Given the description of an element on the screen output the (x, y) to click on. 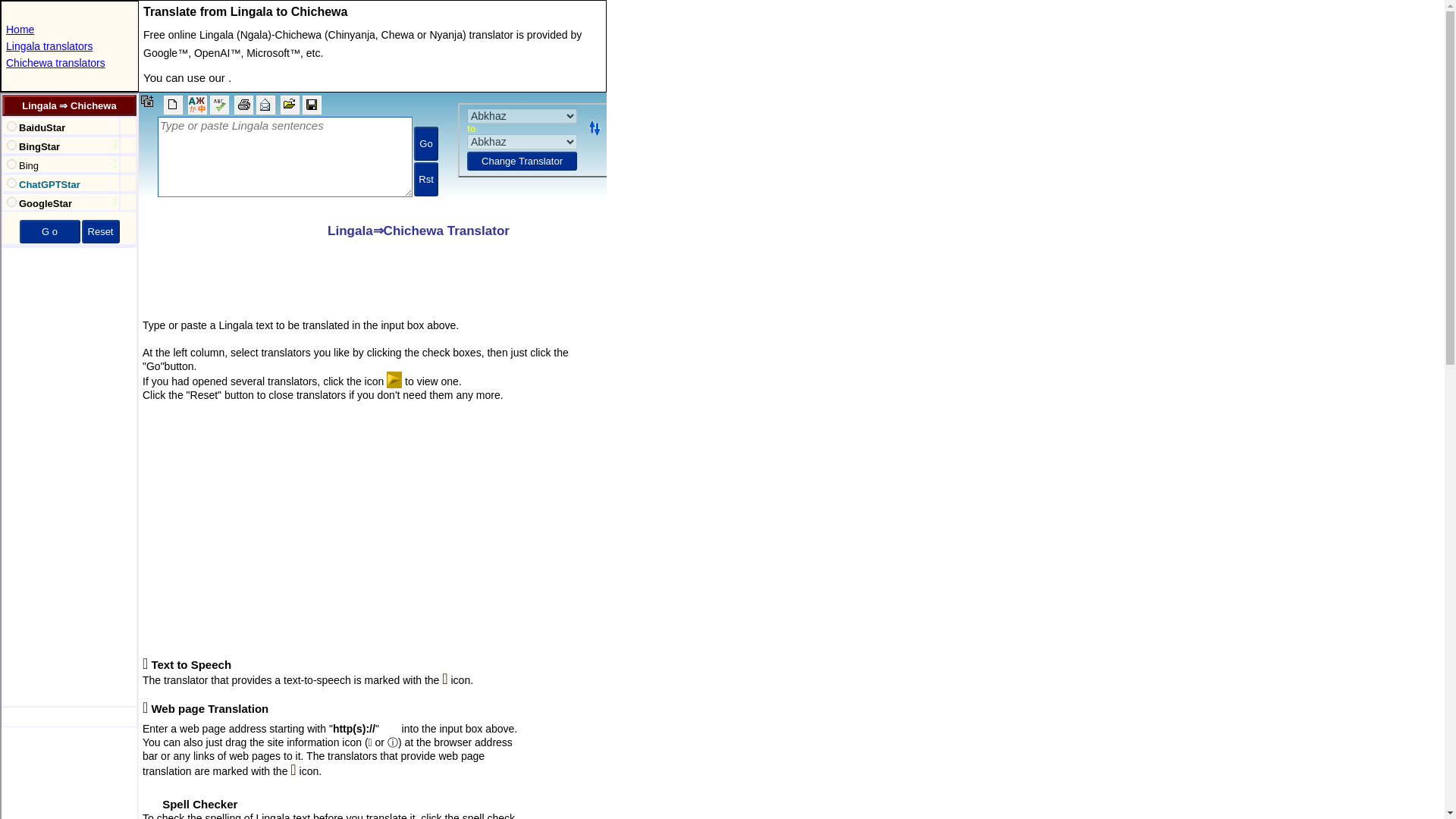
Home Page (19, 29)
Chichewa translators (54, 62)
Enter here a Lingala text to translate (372, 152)
Home (19, 29)
Lingala translators (49, 46)
Online Chichewa translators (54, 62)
Online Lingala translators (49, 46)
